Given the description of an element on the screen output the (x, y) to click on. 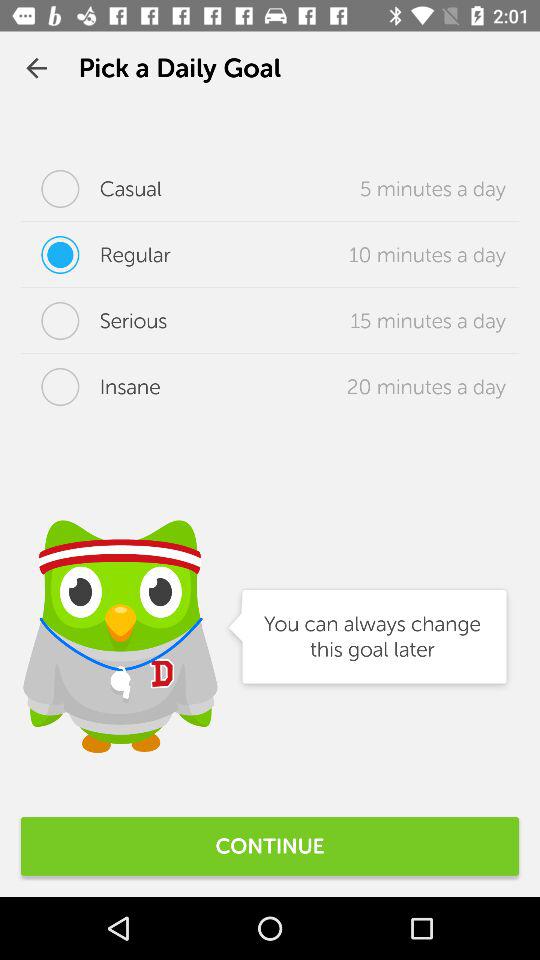
jump until serious (94, 321)
